Given the description of an element on the screen output the (x, y) to click on. 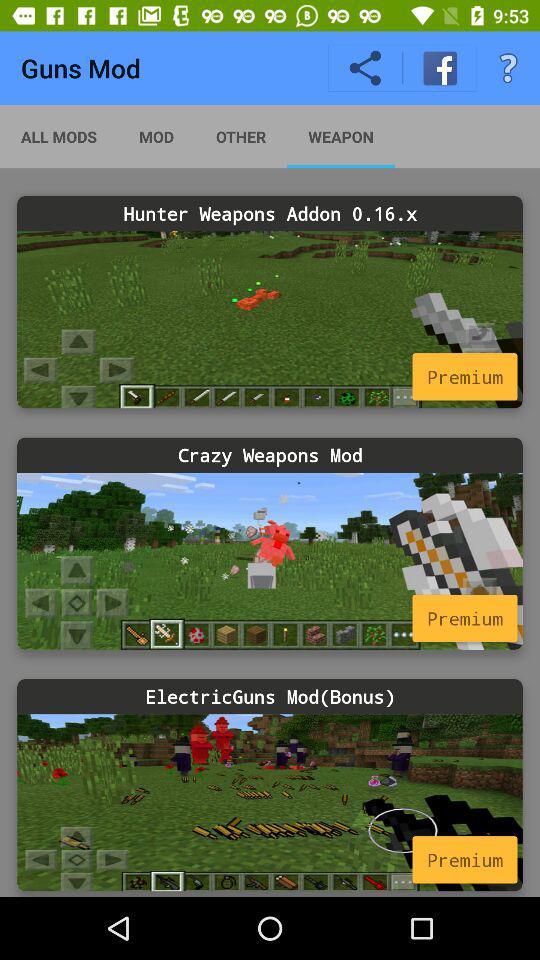
click crazy weapons mod icon (269, 454)
